Given the description of an element on the screen output the (x, y) to click on. 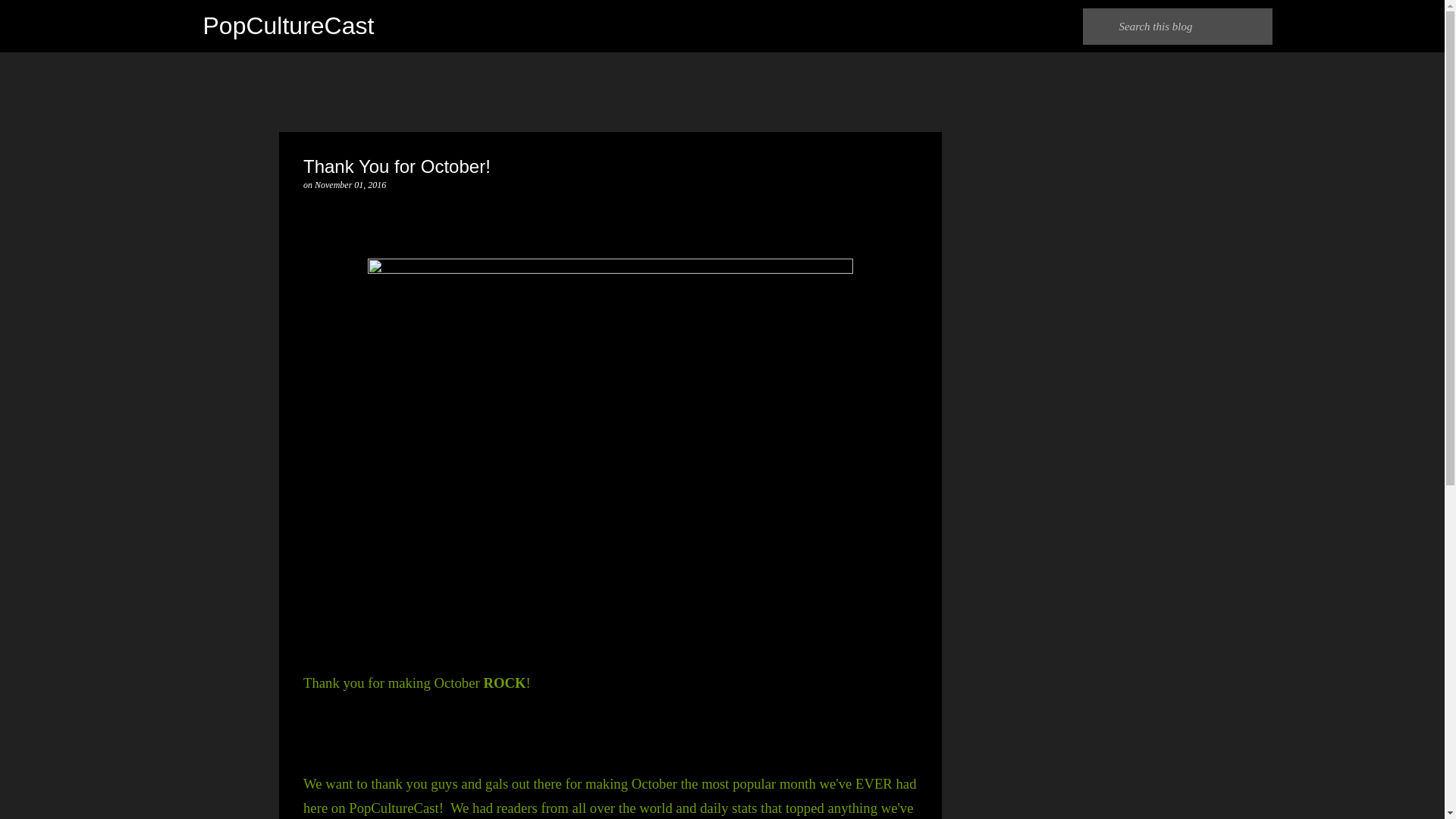
permanent link (349, 184)
November 01, 2016 (349, 184)
PopCultureCast (288, 25)
